Given the description of an element on the screen output the (x, y) to click on. 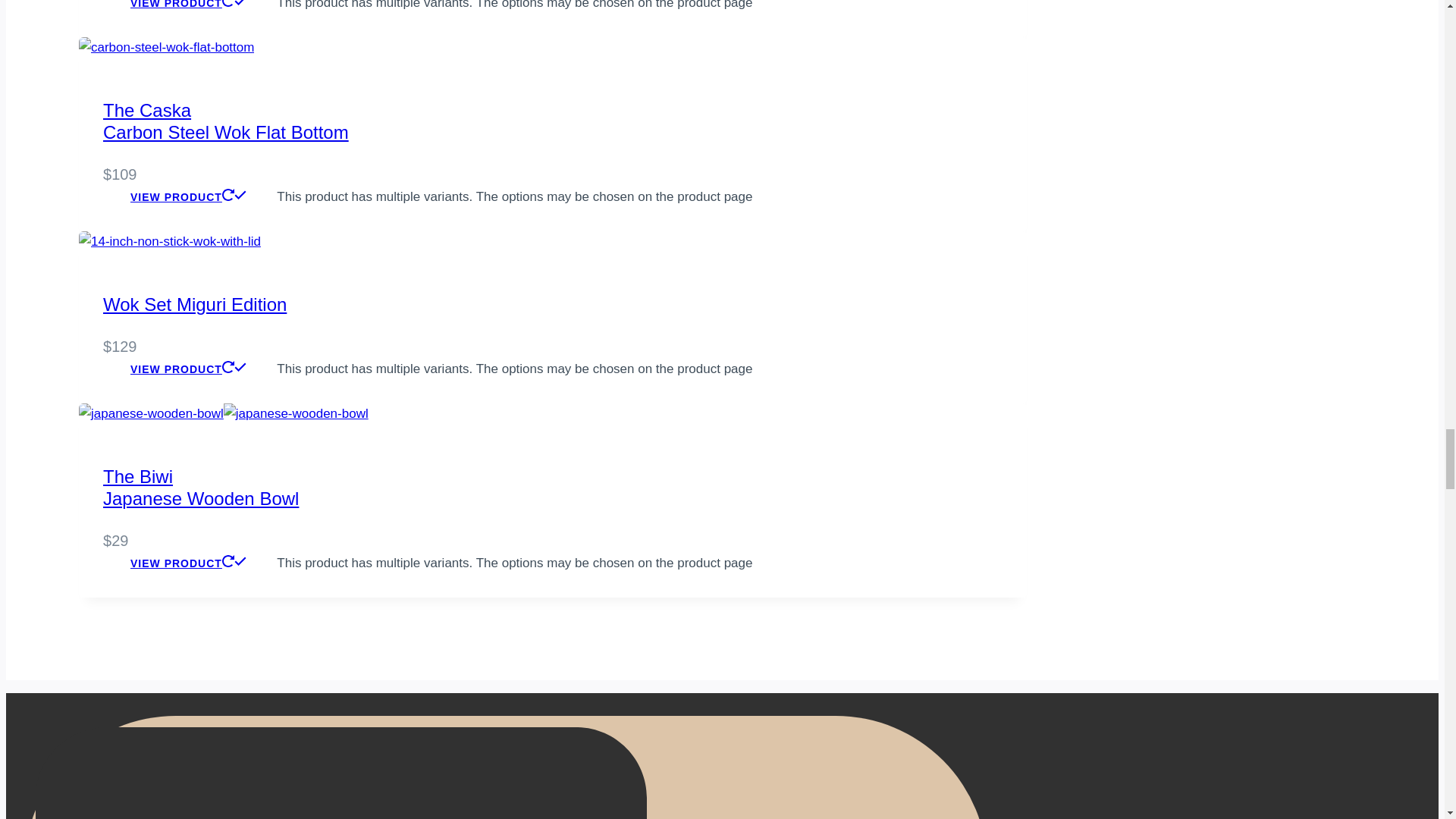
VIEW PRODUCT (226, 120)
japanese-wooden-bowl (188, 196)
VIEW PRODUCT (296, 413)
